Given the description of an element on the screen output the (x, y) to click on. 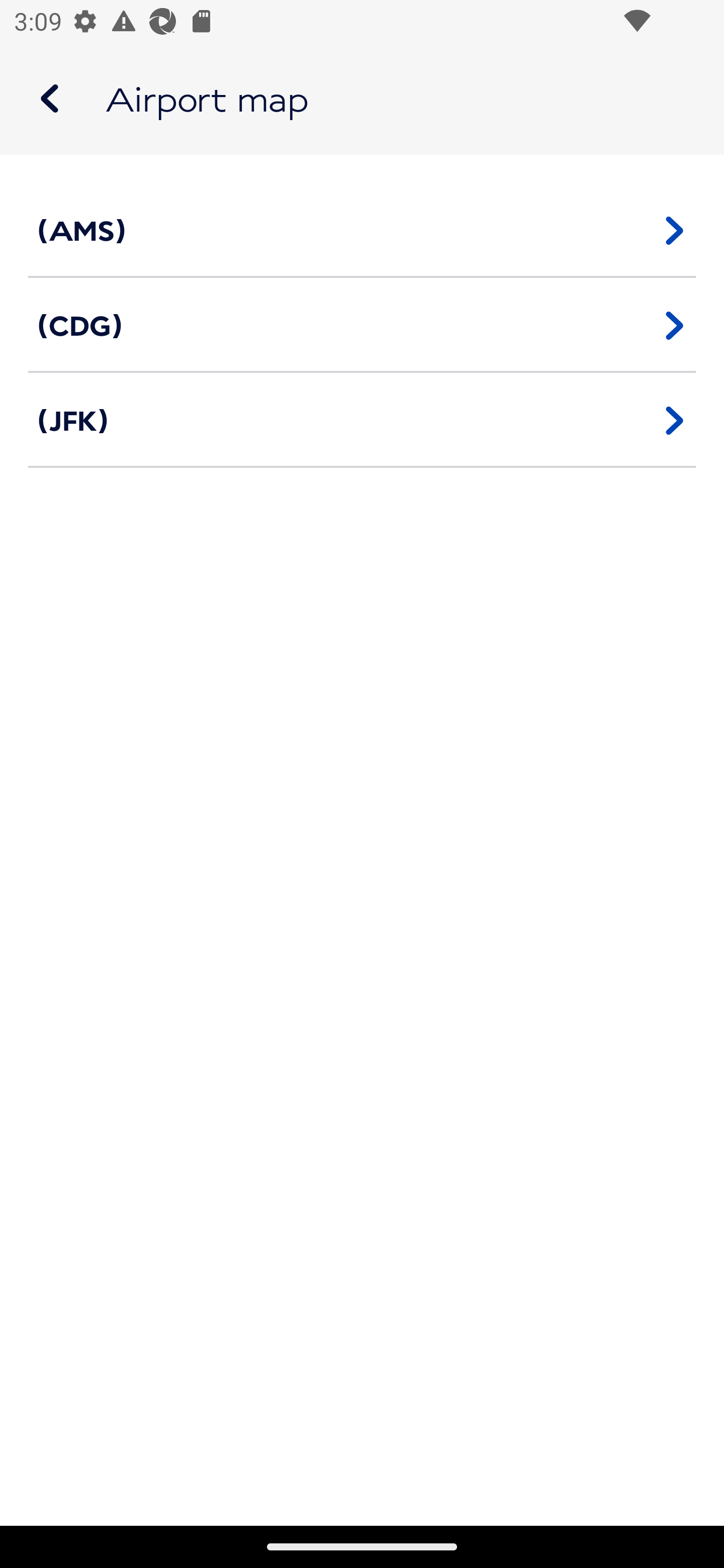
Airport map (362, 98)
 (AMS) (361, 230)
 (CDG) (361, 325)
 (JFK) (361, 420)
